Given the description of an element on the screen output the (x, y) to click on. 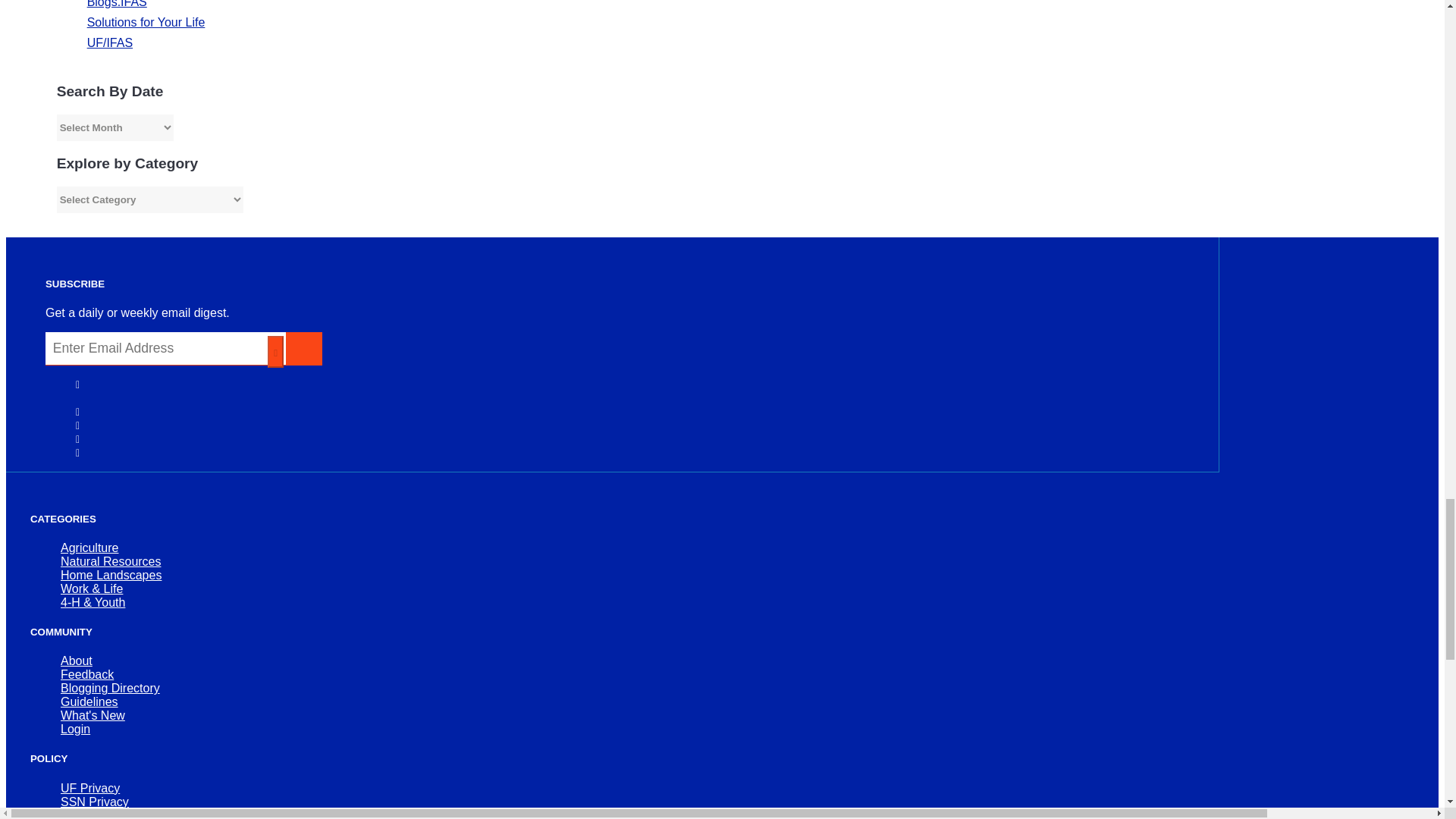
Enter Email Address (165, 348)
